Given the description of an element on the screen output the (x, y) to click on. 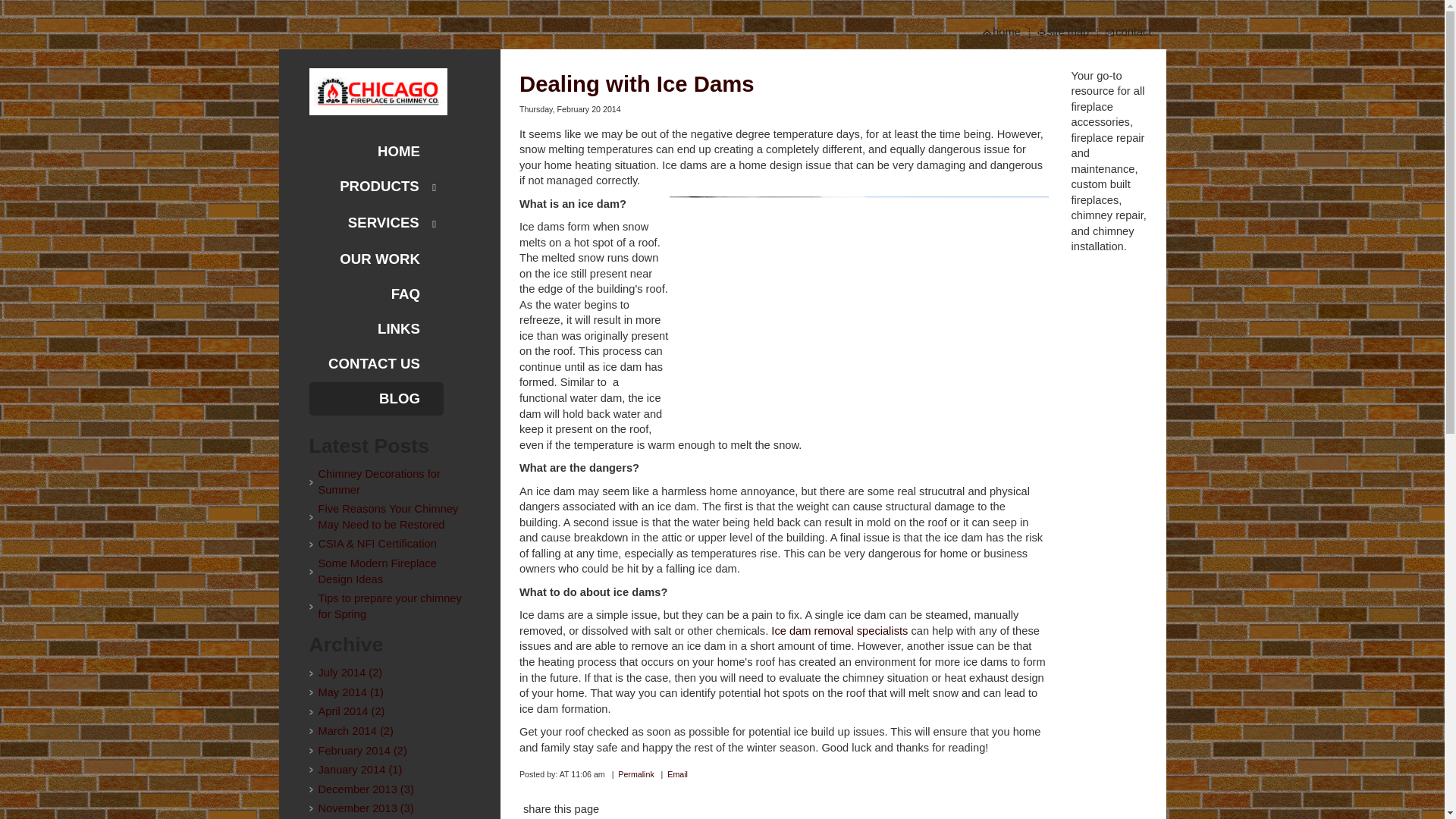
SERVICES (376, 223)
PRODUCTS (376, 186)
Chimney Decorations for Summer (389, 481)
contact (1134, 32)
FAQ (376, 294)
OUR WORK (376, 259)
site map (1068, 32)
LINKS (376, 328)
BLOG (376, 398)
Tips to prepare your chimney for Spring (389, 605)
CONTACT US (376, 363)
Five Reasons Your Chimney May Need to be Restored (389, 516)
HOME (376, 151)
home (1007, 32)
Some Modern Fireplace Design Ideas (389, 571)
